Given the description of an element on the screen output the (x, y) to click on. 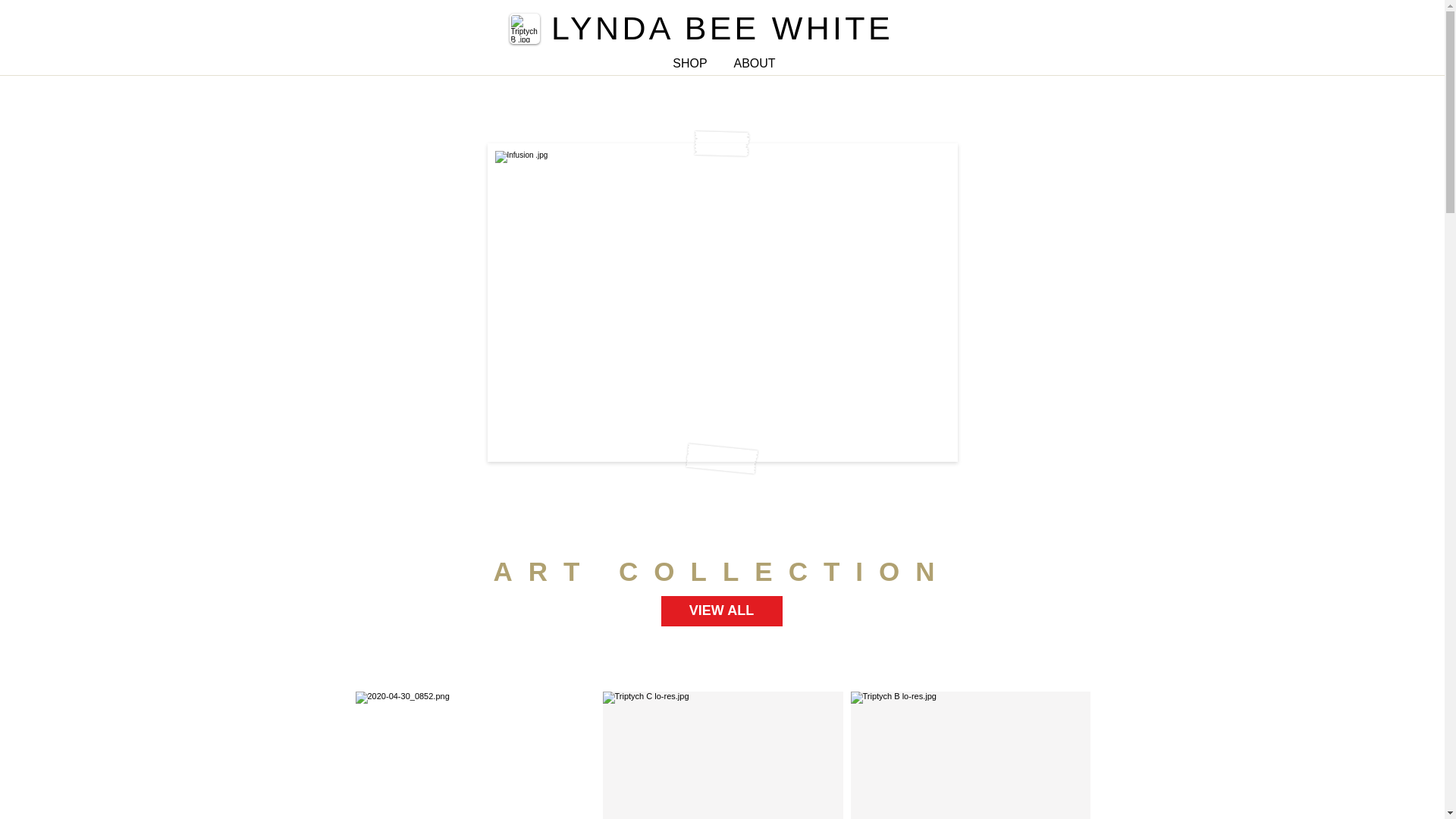
ABOUT (754, 63)
VIEW ALL (722, 611)
SHOP (690, 63)
Lynda Bee White.jpg (524, 28)
